Given the description of an element on the screen output the (x, y) to click on. 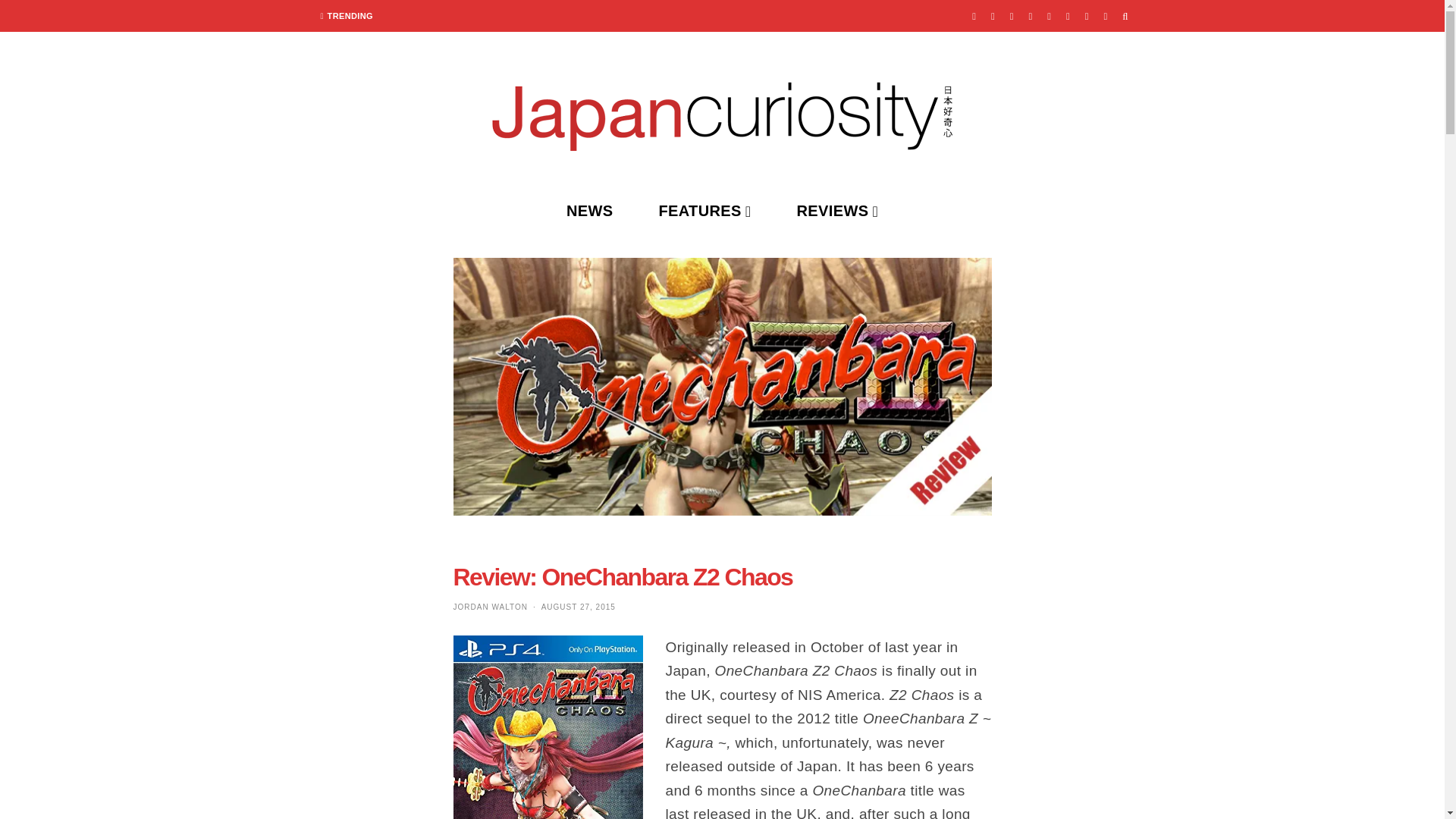
FEATURES (703, 211)
NEWS (589, 211)
TRENDING (346, 15)
